Given the description of an element on the screen output the (x, y) to click on. 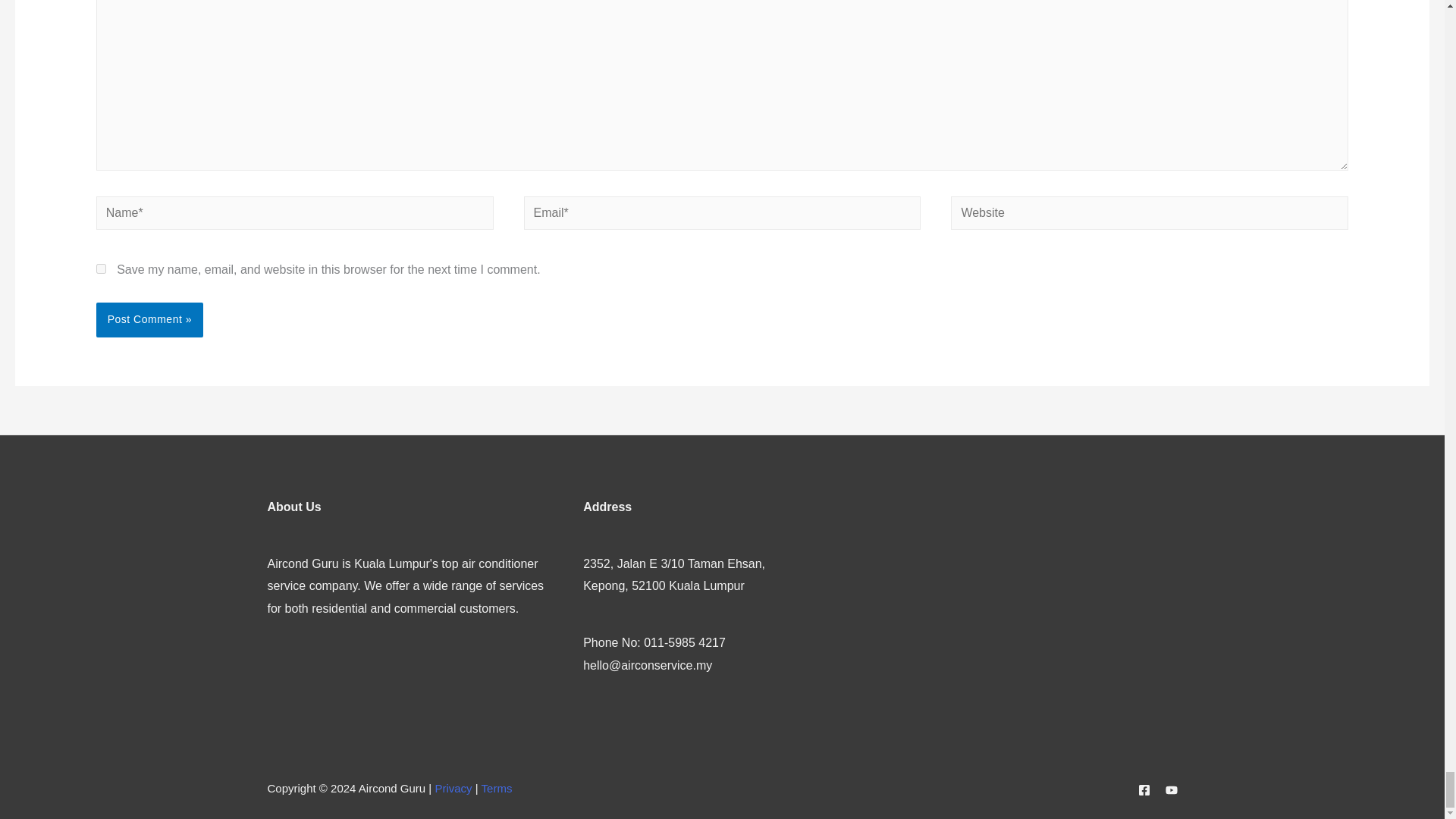
yes (101, 268)
Privacy (452, 788)
Terms (496, 788)
